Given the description of an element on the screen output the (x, y) to click on. 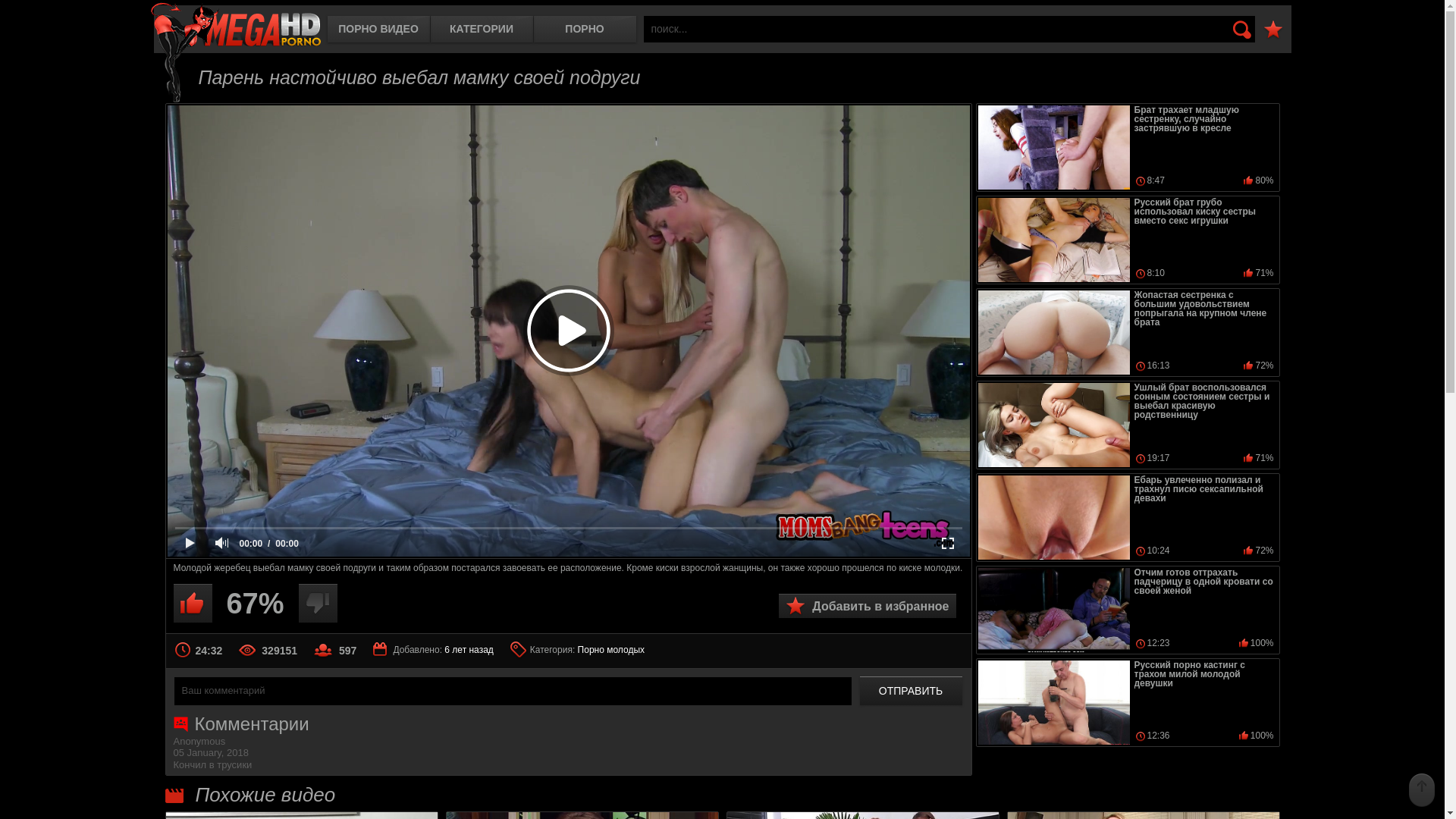
MegaHDporno.cc Element type: text (235, 26)
